Given the description of an element on the screen output the (x, y) to click on. 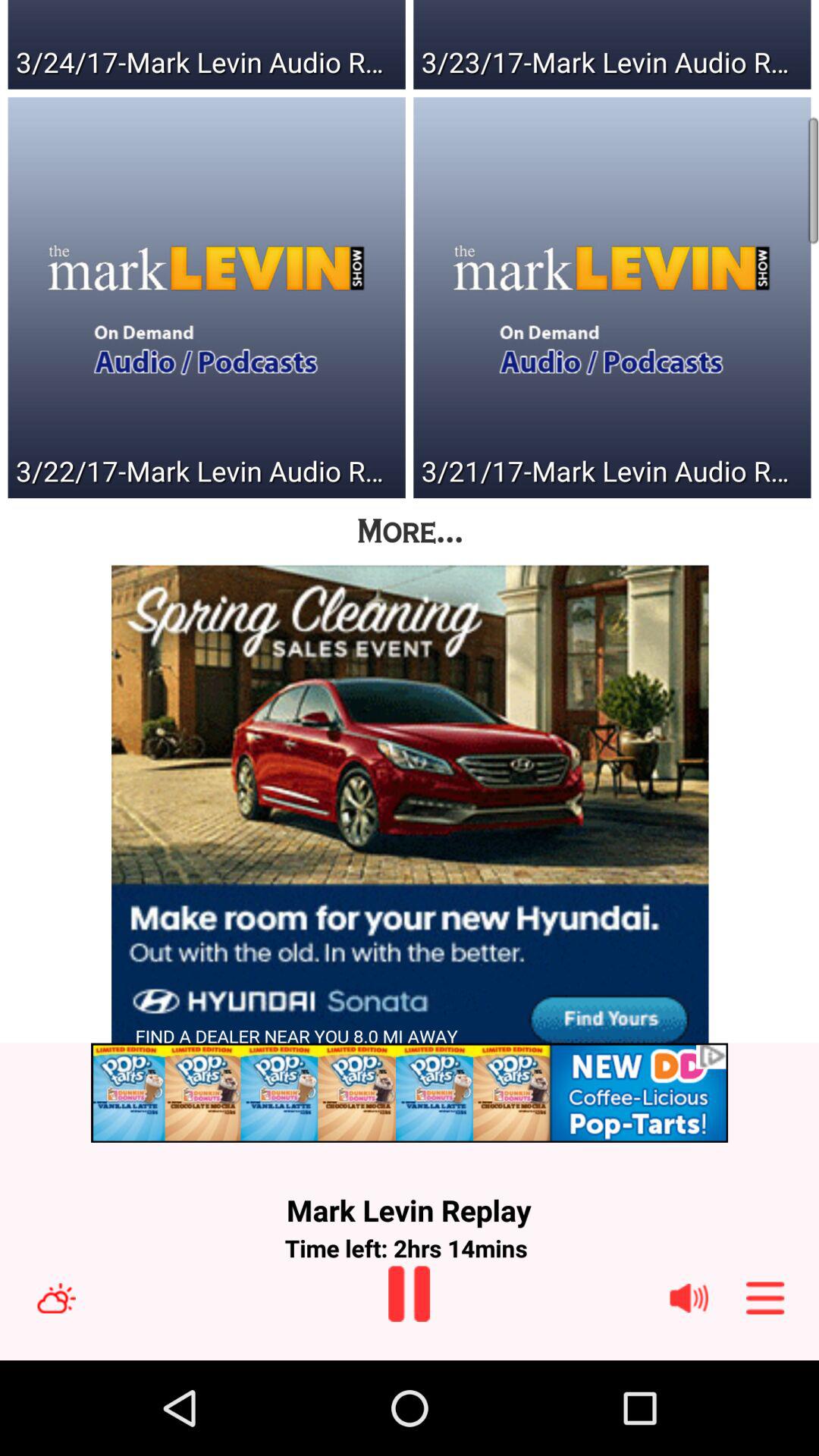
pause radio station (408, 1293)
